Given the description of an element on the screen output the (x, y) to click on. 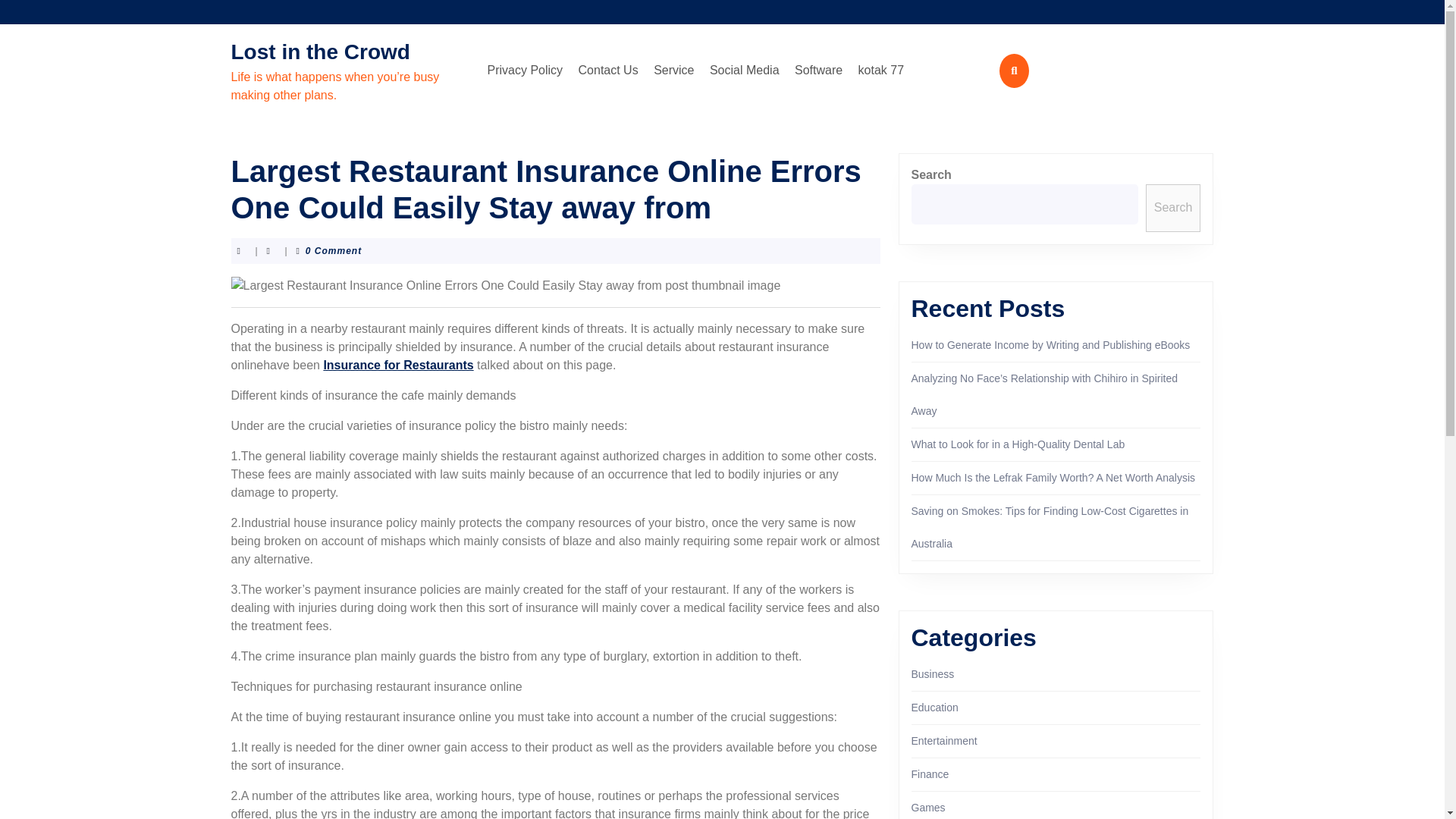
Social Media (744, 70)
Education (934, 707)
Privacy Policy (524, 70)
Business (933, 674)
Entertainment (943, 740)
Lost in the Crowd (319, 51)
Finance (930, 774)
What to Look for in a High-Quality Dental Lab (1018, 444)
Contact Us (608, 70)
Games (927, 807)
